Given the description of an element on the screen output the (x, y) to click on. 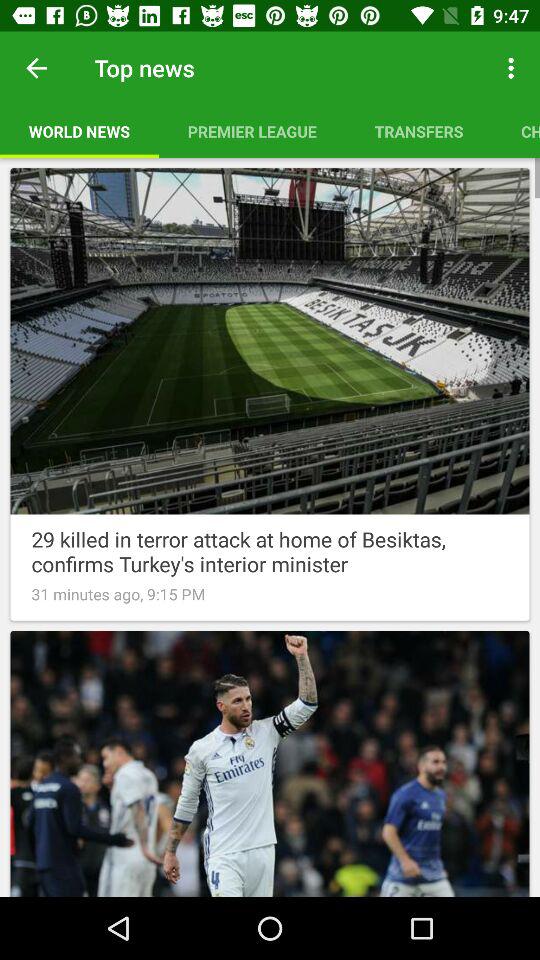
choose item next to the transfers (516, 131)
